Given the description of an element on the screen output the (x, y) to click on. 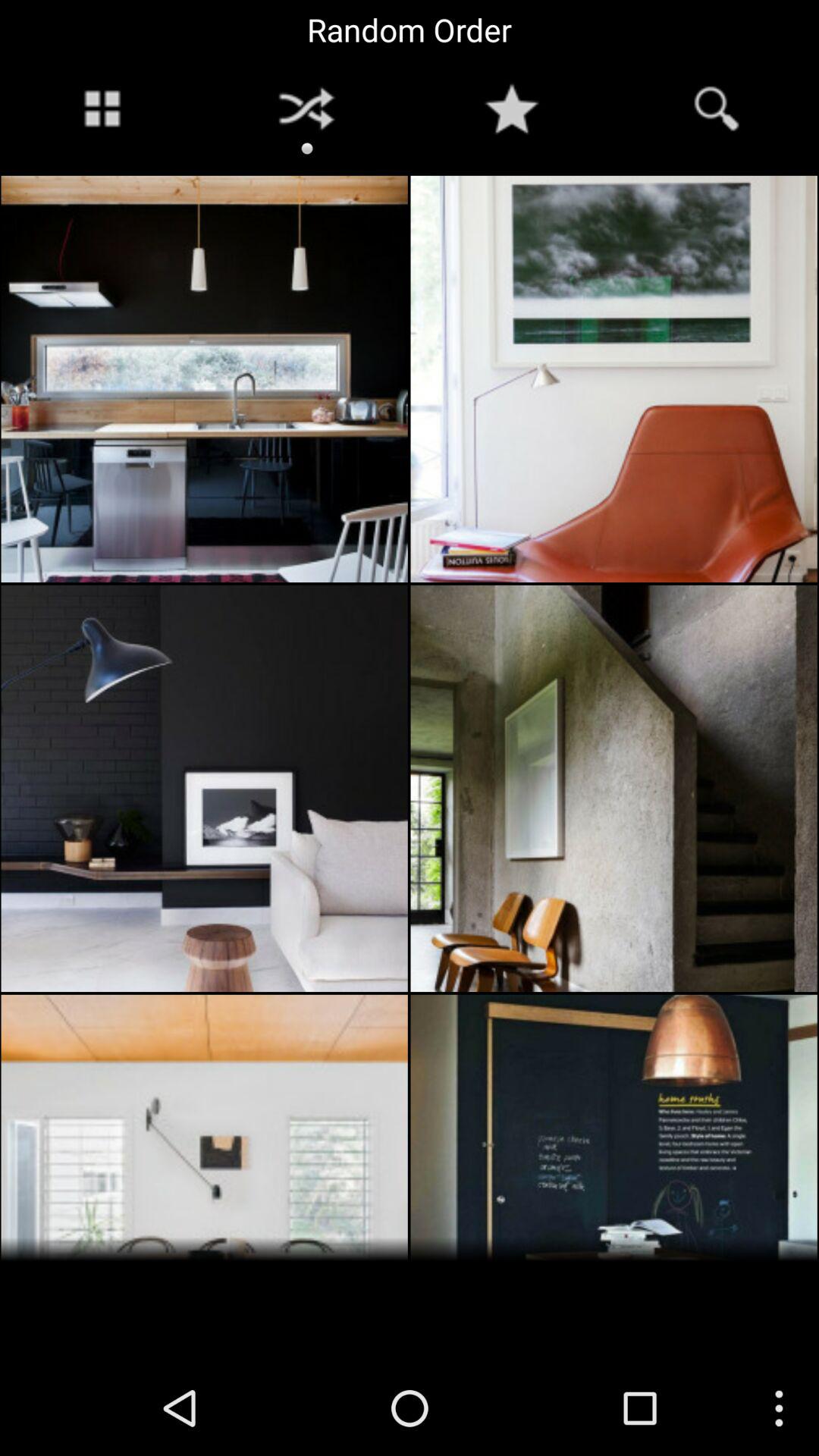
select the second image in the first row (614, 379)
click the bottom  ride side image (614, 1127)
select the image in the bottom left (204, 1127)
select the middle image which is at right hand side (614, 788)
click on the symbol to the right of windows button (307, 108)
